Given the description of an element on the screen output the (x, y) to click on. 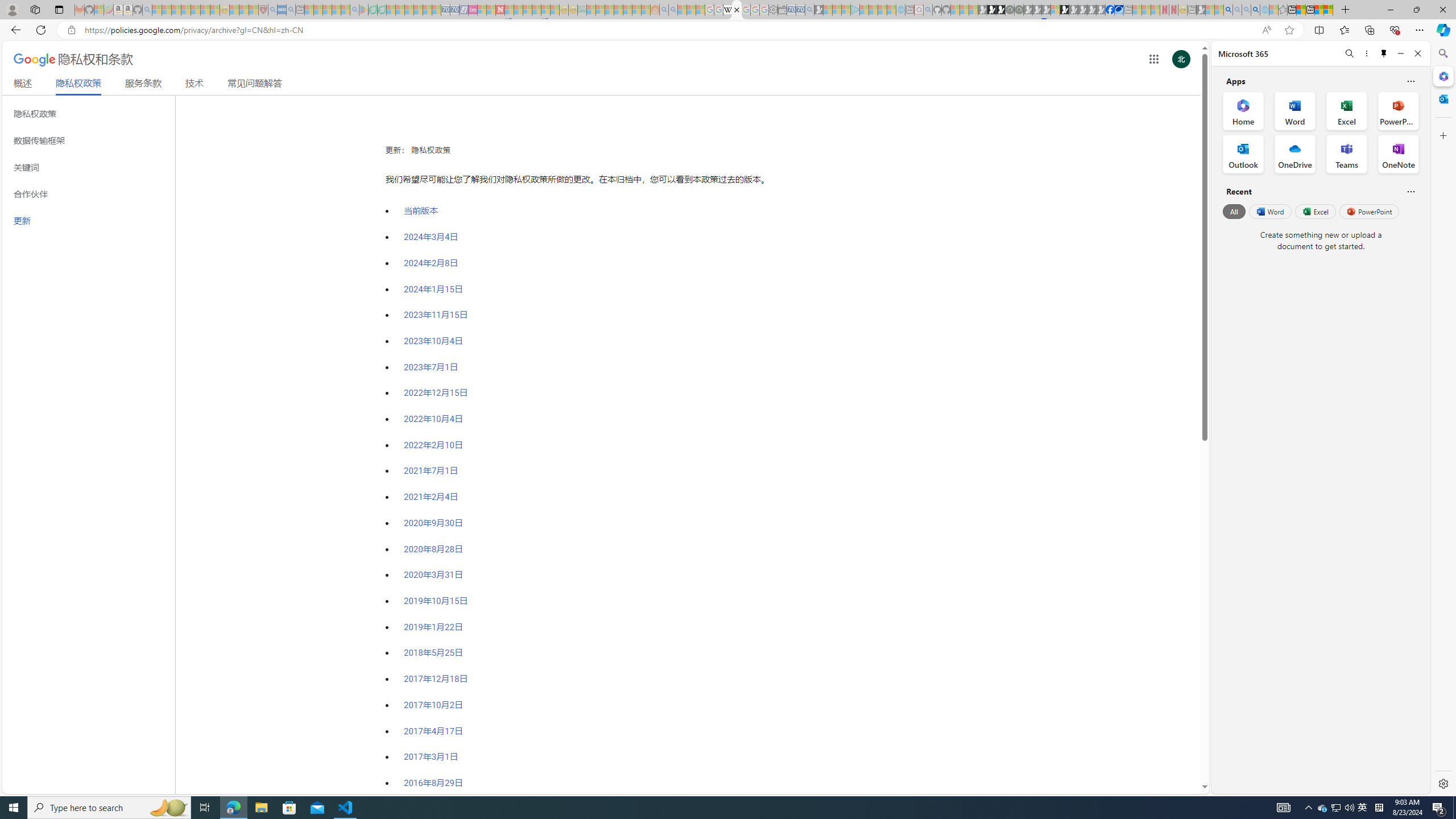
Jobs - lastminute.com Investor Portal - Sleeping (472, 9)
AirNow.gov (1118, 9)
Bing Real Estate - Home sales and rental listings - Sleeping (809, 9)
Side bar (1443, 418)
Bing AI - Search (1227, 9)
